Given the description of an element on the screen output the (x, y) to click on. 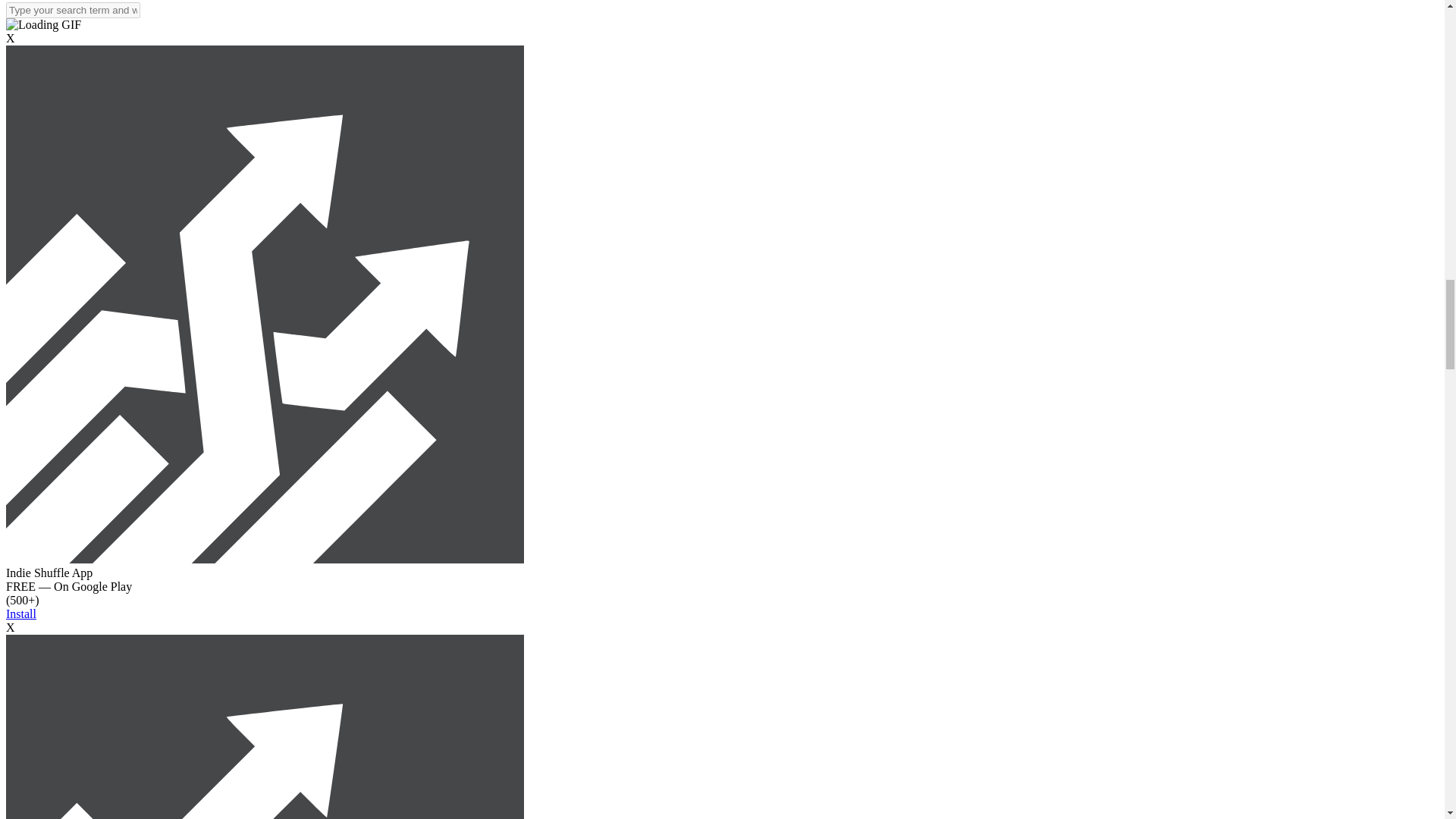
Install Android App (264, 558)
